Given the description of an element on the screen output the (x, y) to click on. 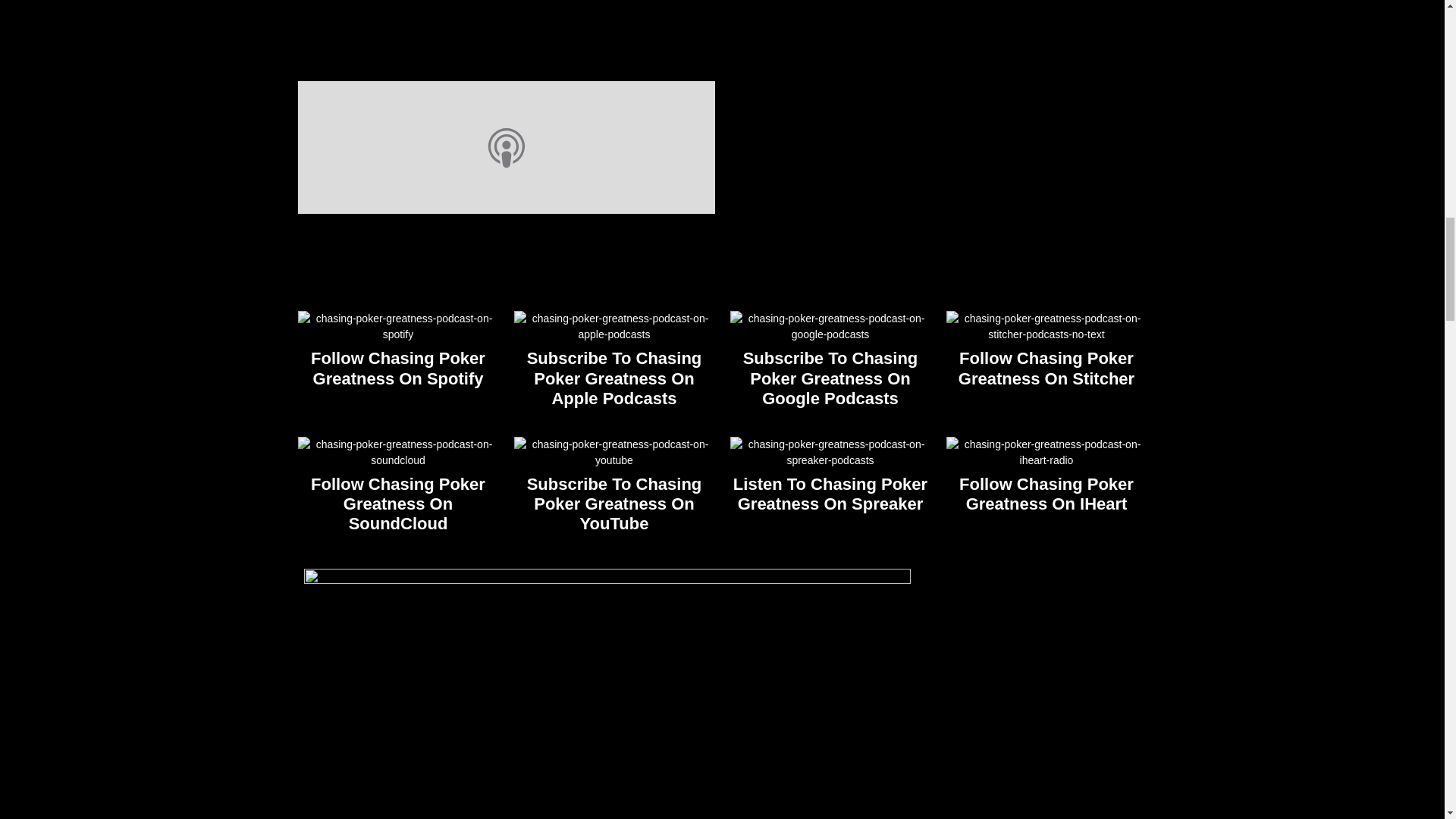
Follow Chasing Poker Greatness On Spotify (397, 367)
